Given the description of an element on the screen output the (x, y) to click on. 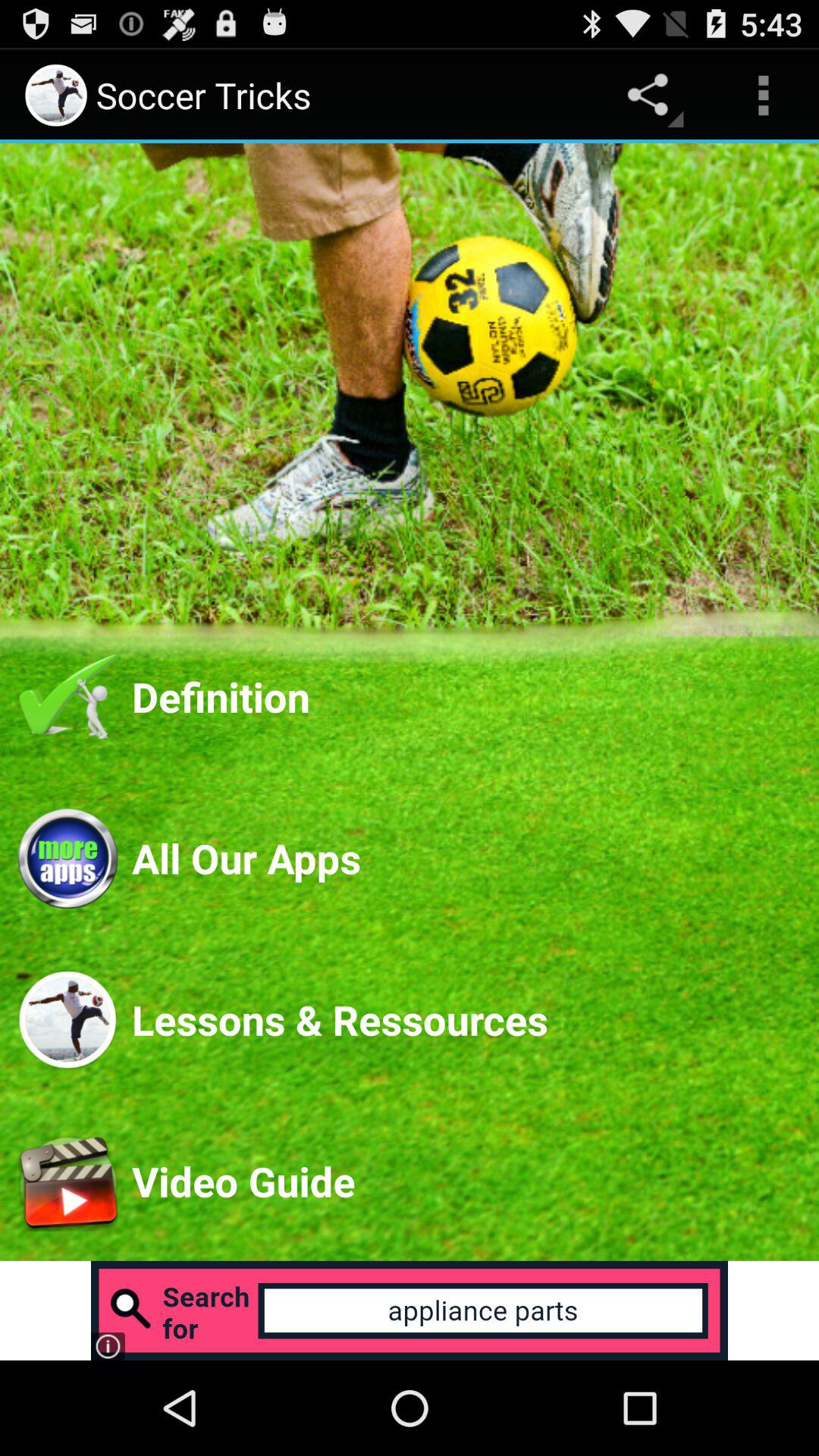
swipe until video guide app (465, 1180)
